Given the description of an element on the screen output the (x, y) to click on. 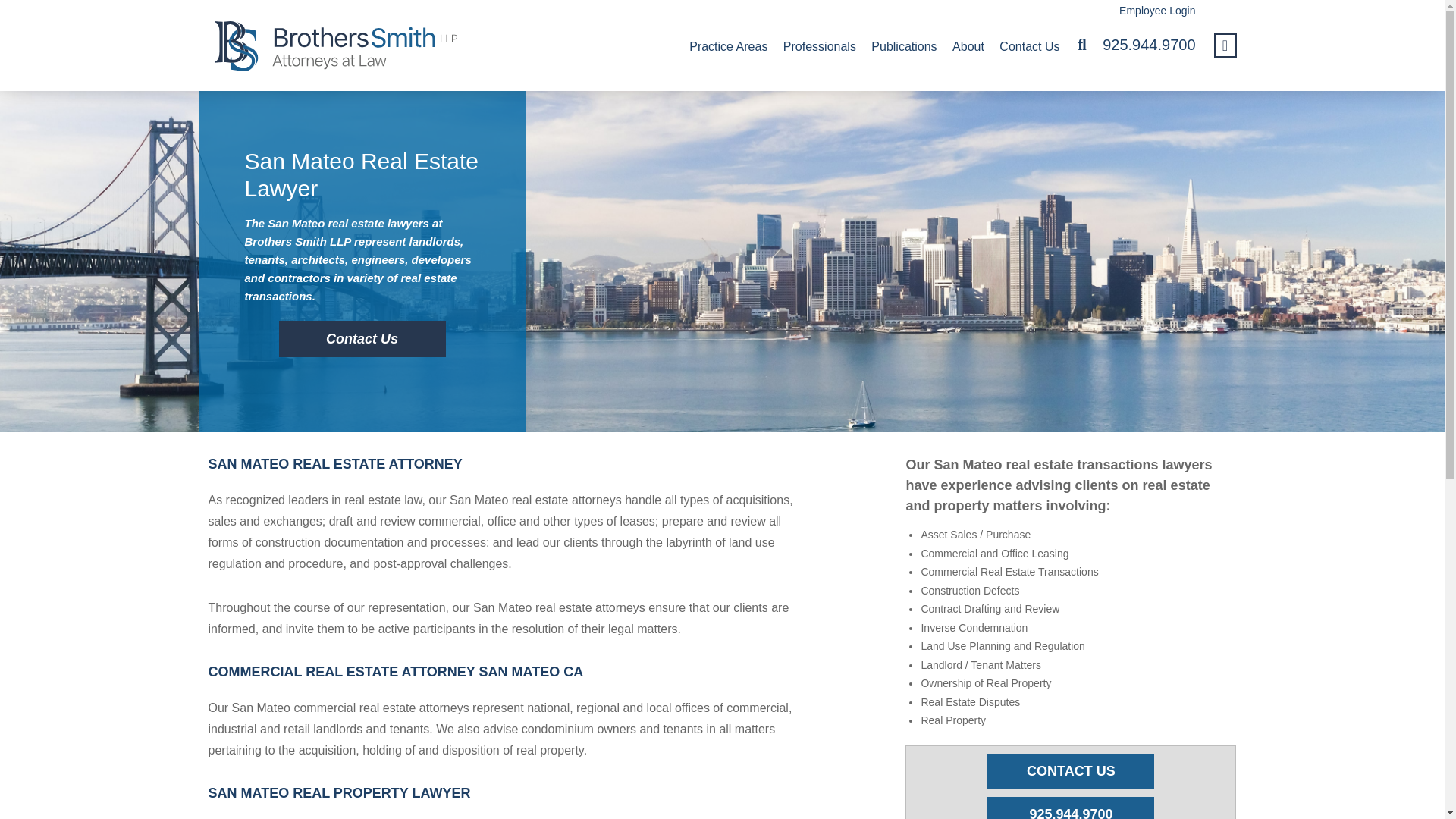
Employee Login (1144, 10)
Practice Areas (727, 46)
925.944.9700 (1070, 807)
Professionals (819, 46)
About (968, 46)
925.944.9700 (1148, 44)
Contact Us (1028, 46)
Publications (903, 46)
Contact Us (362, 339)
CONTACT US (1070, 771)
